Given the description of an element on the screen output the (x, y) to click on. 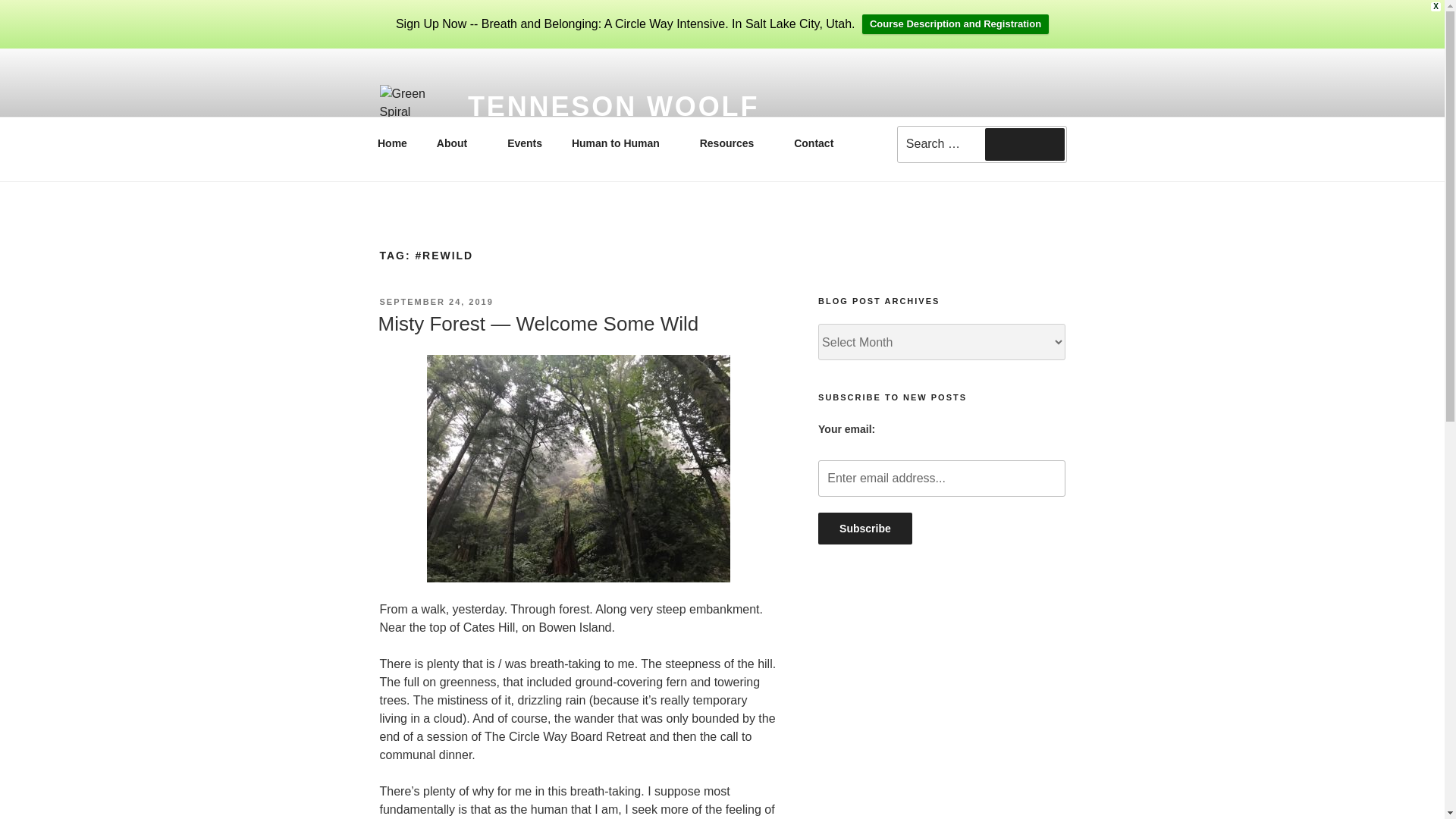
Resources (731, 143)
Human to Human (619, 143)
Contact (813, 143)
SEPTEMBER 24, 2019 (435, 301)
Subscribe (865, 528)
TENNESON WOOLF (612, 106)
Course Description and Registration (954, 24)
Subscribe (865, 528)
Enter email address... (941, 478)
Search (1024, 143)
